Given the description of an element on the screen output the (x, y) to click on. 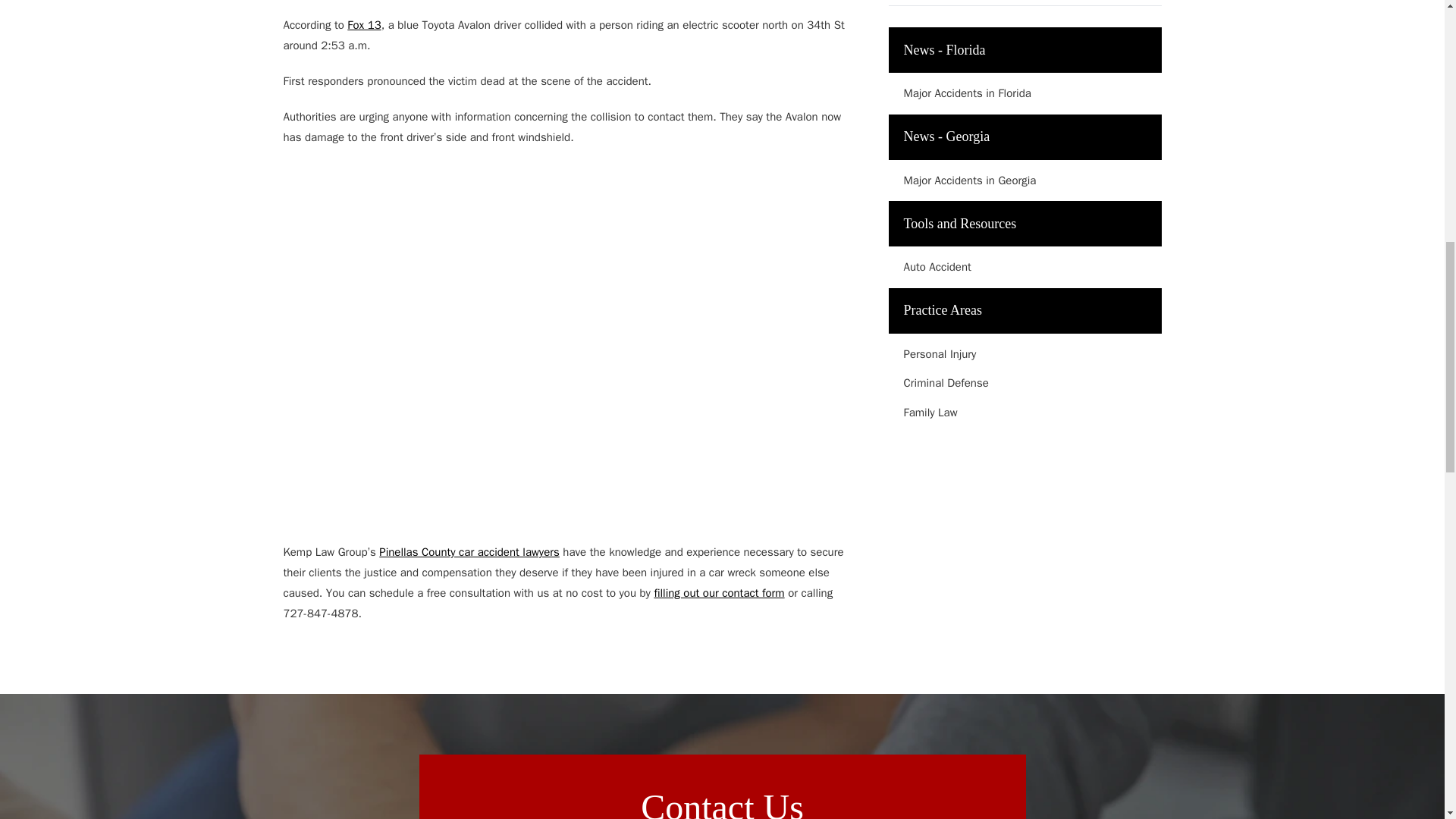
filling out our contact form (718, 592)
Fox 13 (363, 24)
Pinellas County car accident lawyers (468, 551)
